Given the description of an element on the screen output the (x, y) to click on. 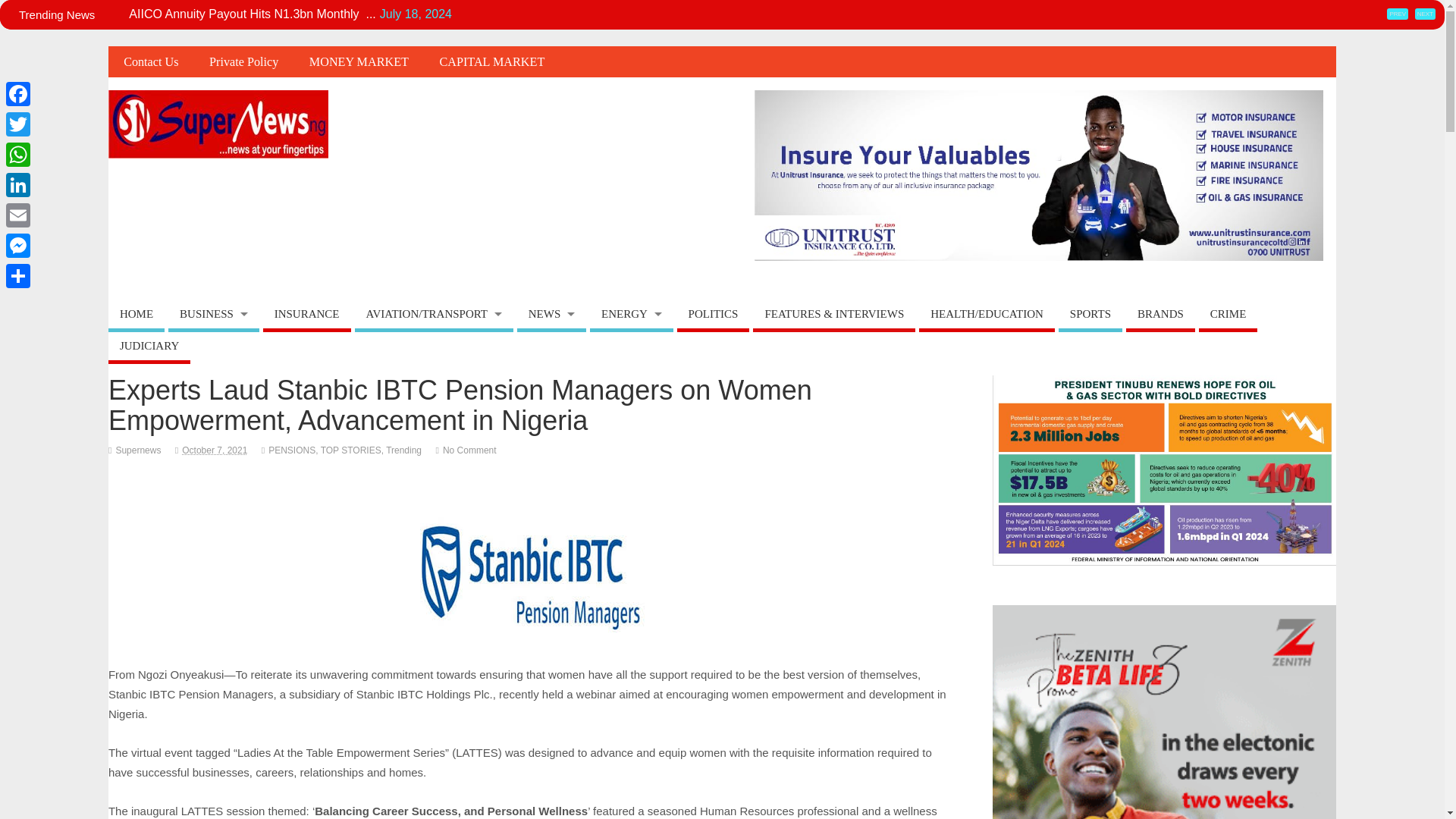
AIICO Annuity Payout Hits N1.3bn Monthly  ... (252, 13)
Private Policy (243, 60)
Contact Us (150, 60)
CAPITAL MARKET (491, 60)
MONEY MARKET (359, 60)
Posts by Supernews (137, 450)
